Given the description of an element on the screen output the (x, y) to click on. 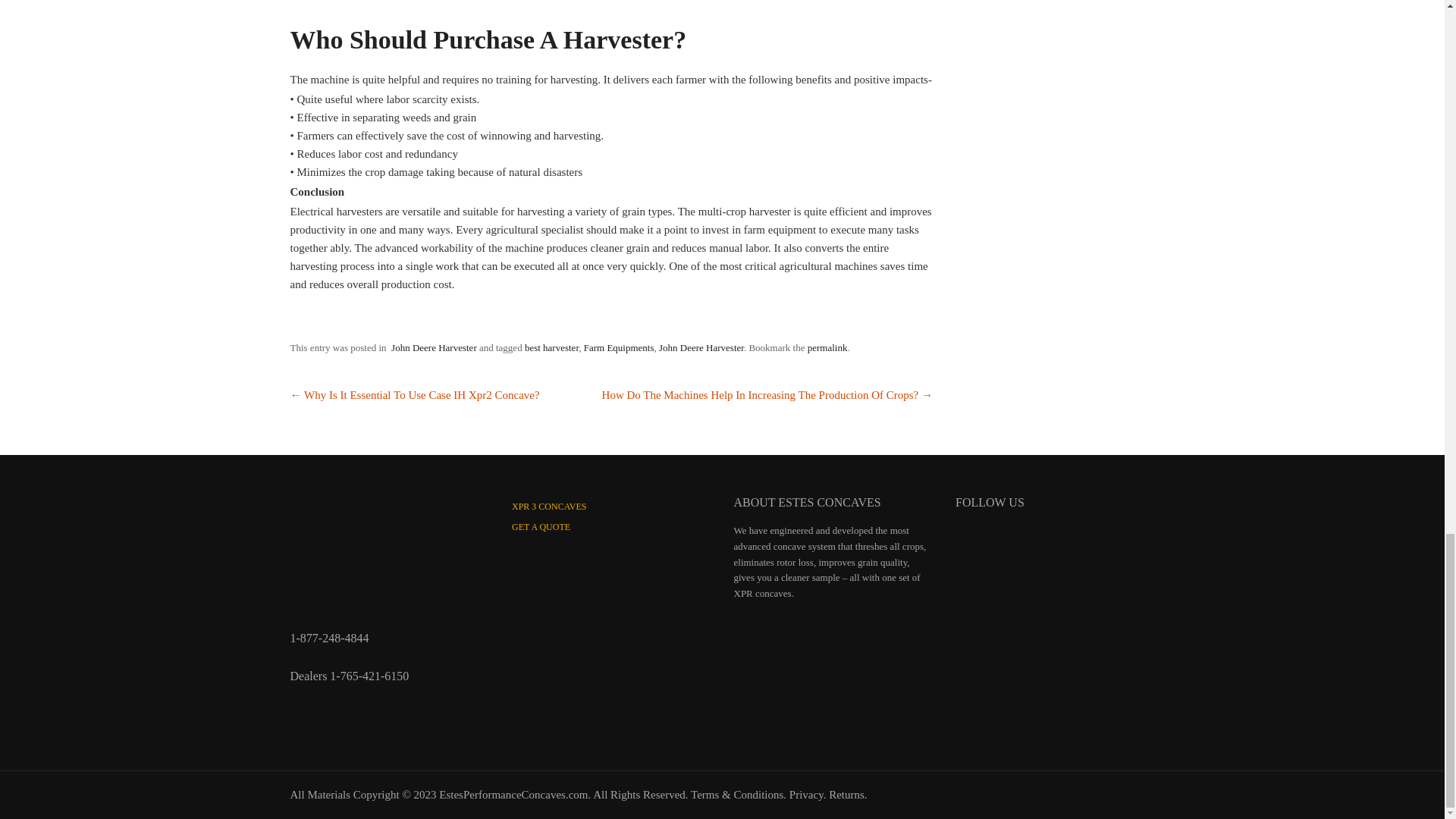
COMBINE CONCAVES (535, 637)
estes concaves instagram (1012, 541)
Farm Equipments (618, 347)
RPR CONCAVES (545, 666)
permalink (827, 347)
 John Deere Harvester (432, 347)
GET A QUOTE (541, 526)
Dealers 1-765-421-6150 (349, 675)
ORDER NOW (539, 567)
CART (523, 608)
